Given the description of an element on the screen output the (x, y) to click on. 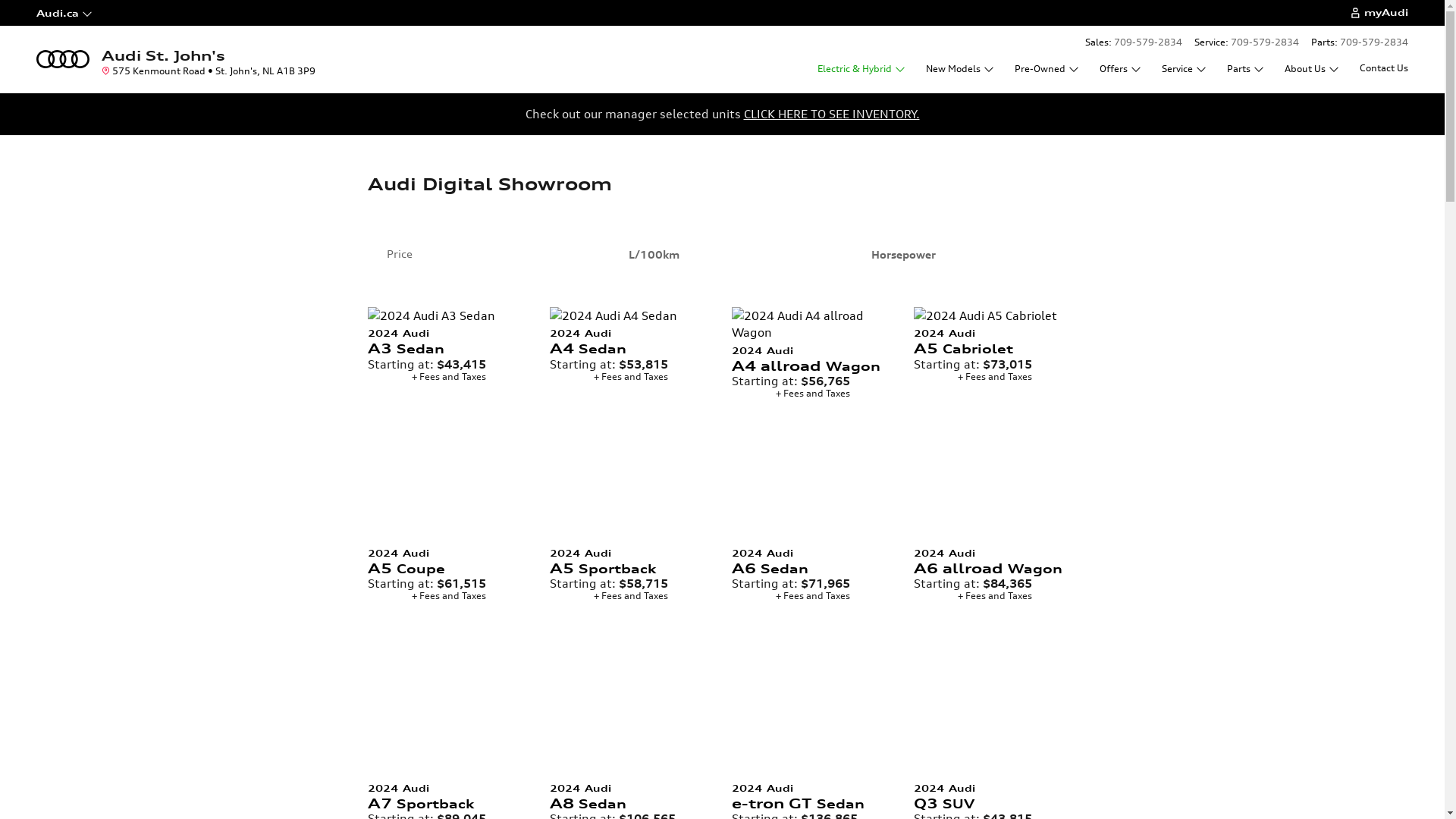
2024 Audi A4 Sedan  Element type: hover (630, 314)
2024 Audi A4 allroad Wagon  Element type: hover (812, 323)
2024 Audi A3 Sedan  Element type: hover (448, 314)
Contact Us Element type: text (1382, 68)
2024 Audi A4 allroad Wagon Element type: text (805, 357)
About Us Element type: text (1311, 68)
2024 Audi A7 Sportback  Element type: hover (367, 777)
2024 Audi A5 Coupe Element type: text (441, 558)
Parts Element type: text (1244, 68)
Audi.ca Element type: text (93, 12)
Skip to main content Element type: text (0, 0)
2024 Audi Q3 SUV Element type: text (987, 794)
2024 Audi A5 Coupe  Element type: hover (367, 541)
575 Kenmount Road

St. John'S
,
NL
A1B 3P9 Element type: text (207, 70)
2024 Audi e-tron GT Sedan  Element type: hover (731, 777)
2024 Audi A6 Sedan  Element type: hover (731, 541)
2024 Audi A6 allroad Wagon Element type: text (987, 558)
2024 Audi A5 Cabriolet  Element type: hover (994, 314)
Pre-Owned Element type: text (1046, 68)
2024 Audi A5 Sportback Element type: text (623, 558)
New Models Element type: text (959, 68)
Offers Element type: text (1119, 68)
myAudi Element type: text (1378, 12)
Electric & Hybrid Element type: text (860, 68)
Home Element type: hover (62, 57)
2024 Audi A5 Cabriolet Element type: text (987, 339)
CLICK HERE TO SEE INVENTORY. Element type: text (831, 113)
2024 Audi A5 Sportback  Element type: hover (549, 541)
Service Element type: text (1183, 68)
2024 Audi A3 Sedan Element type: text (441, 339)
2024 Audi A7 Sportback Element type: text (441, 794)
2024 Audi Q3 SUV  Element type: hover (913, 777)
2024 Audi A8 Sedan Element type: text (623, 794)
2024 Audi A4 Sedan Element type: text (623, 339)
2024 Audi e-tron GT Sedan Element type: text (805, 794)
2024 Audi A8 Sedan  Element type: hover (549, 777)
2024 Audi A6 allroad Wagon  Element type: hover (913, 541)
2024 Audi A6 Sedan Element type: text (805, 558)
